Given the description of an element on the screen output the (x, y) to click on. 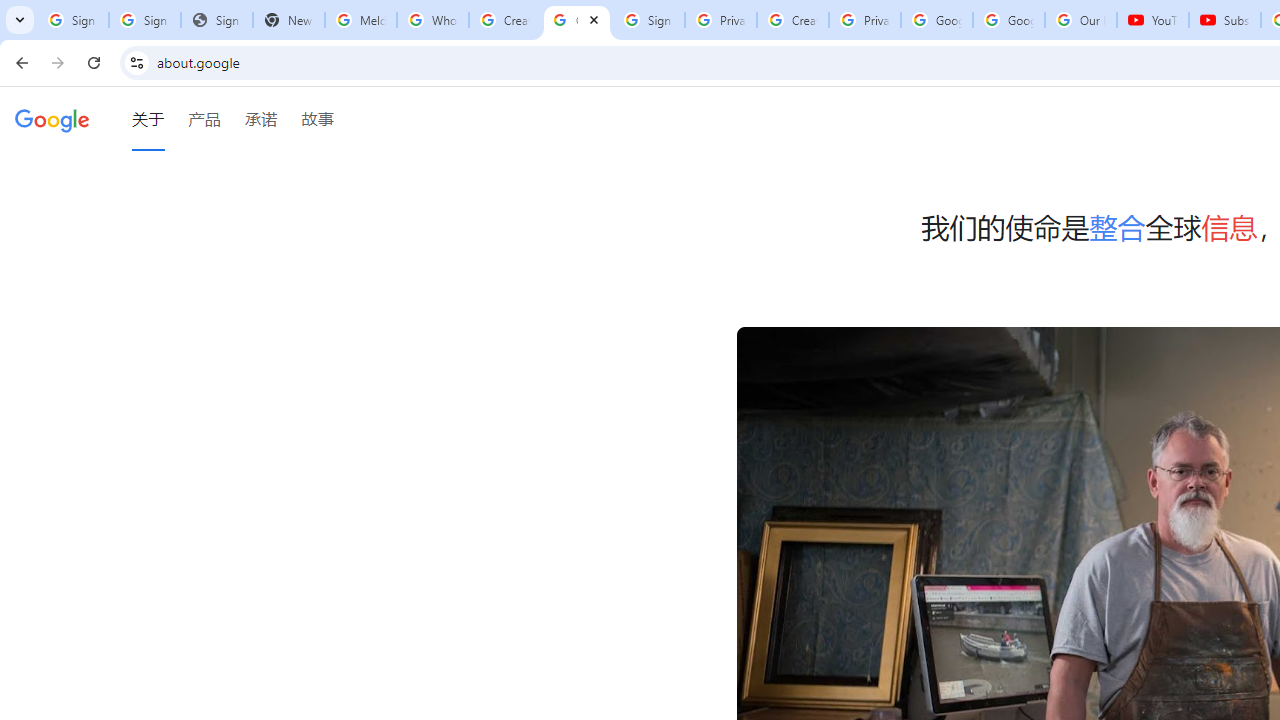
Sign in - Google Accounts (72, 20)
YouTube (1153, 20)
Create your Google Account (792, 20)
